Given the description of an element on the screen output the (x, y) to click on. 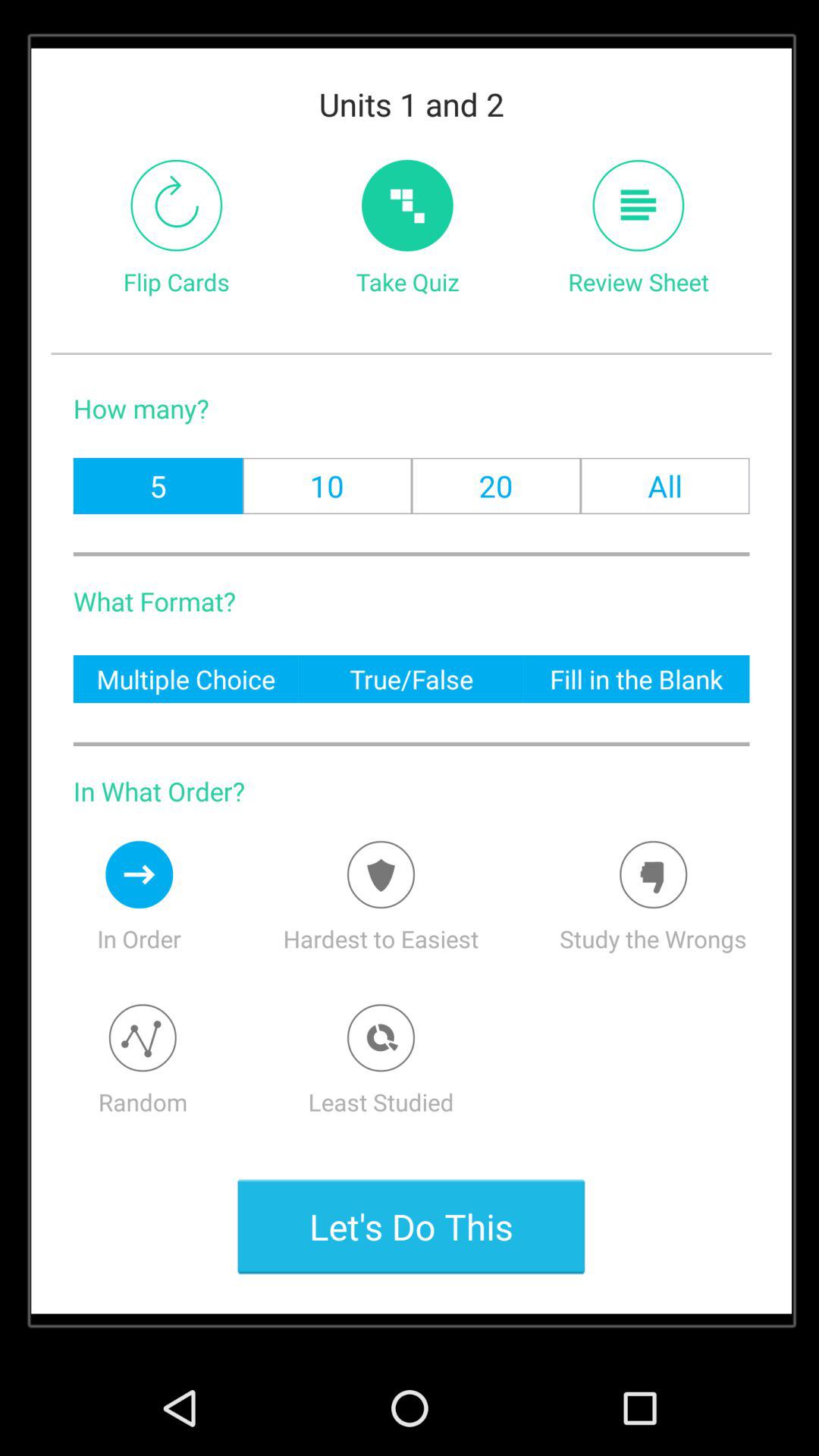
select least studied option (380, 1037)
